Given the description of an element on the screen output the (x, y) to click on. 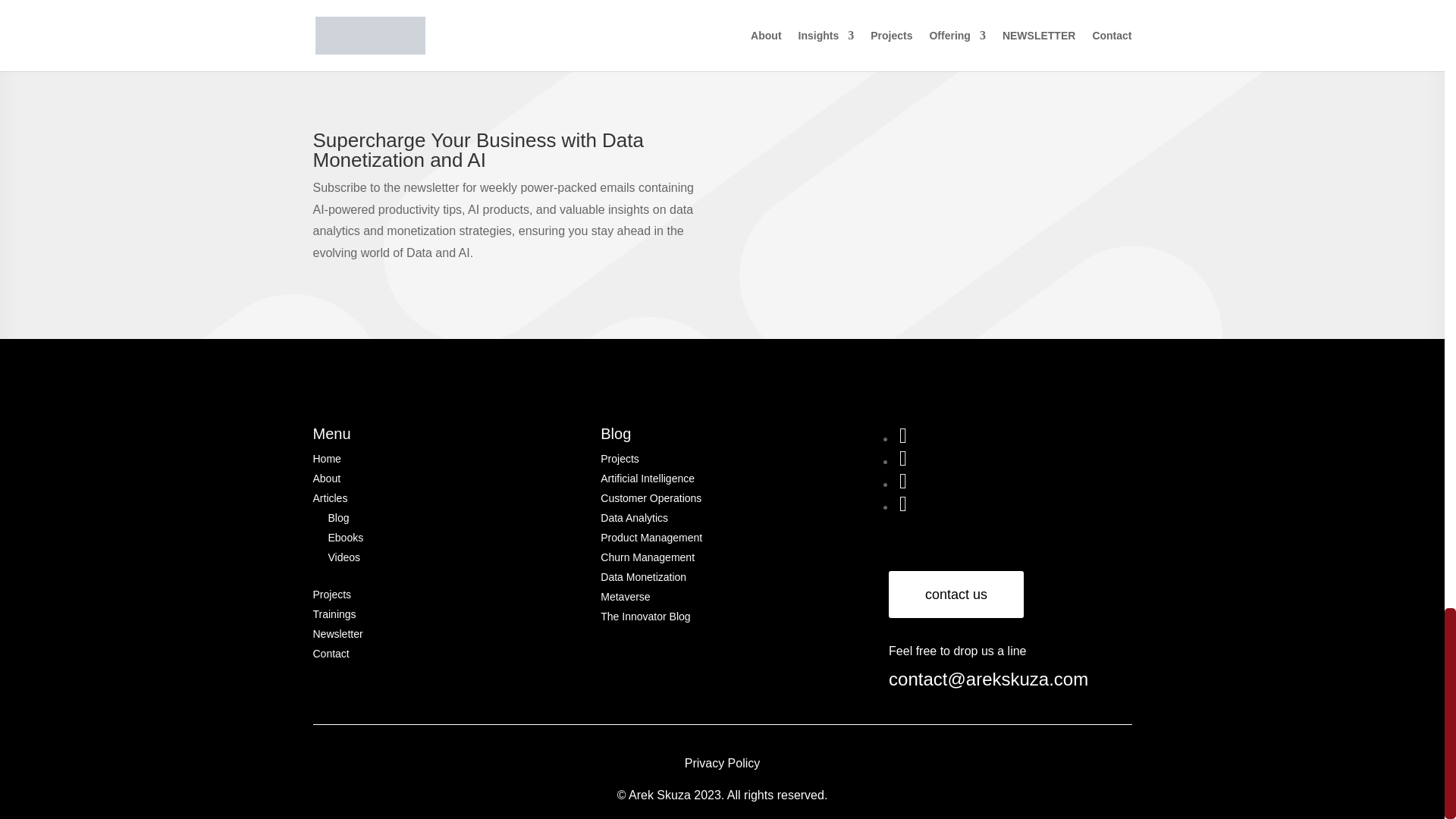
About (326, 478)
Videos (343, 557)
Ebooks (344, 537)
Articles (330, 498)
Home (326, 458)
Blog (338, 517)
